Given the description of an element on the screen output the (x, y) to click on. 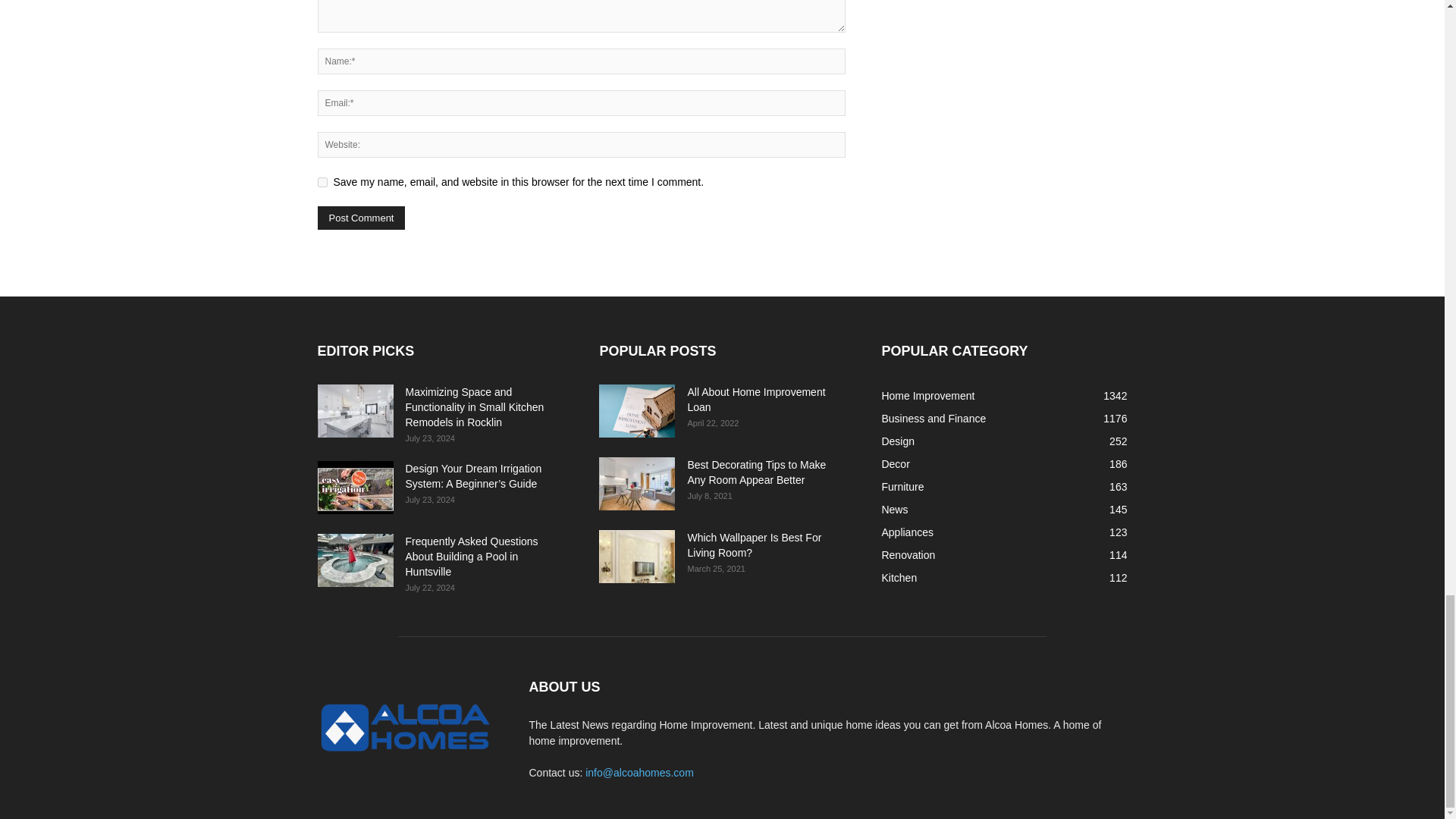
yes (321, 182)
Post Comment (360, 218)
